Given the description of an element on the screen output the (x, y) to click on. 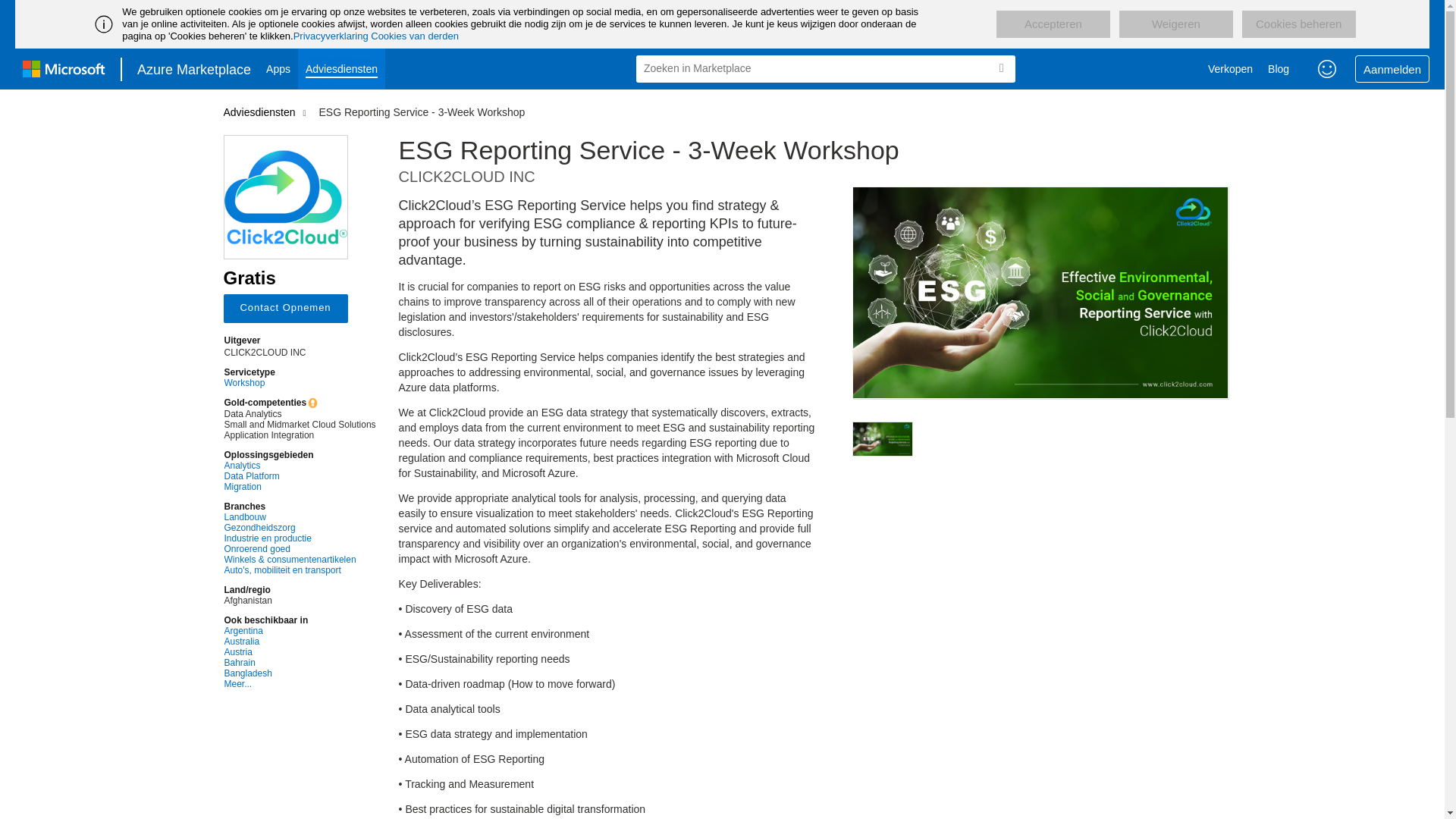
Apps (278, 68)
Cookies beheren (1298, 23)
Privacyverklaring (331, 35)
Azure Marketplace (194, 68)
Verkopen (1229, 68)
Accepteren (1052, 23)
Adviesdiensten (341, 68)
Aanmelden (1392, 68)
Blog (1278, 68)
Weigeren (1176, 23)
Feedback (1326, 68)
Search (1001, 68)
Aanmelden (1392, 68)
Cookies van derden (414, 35)
